Given the description of an element on the screen output the (x, y) to click on. 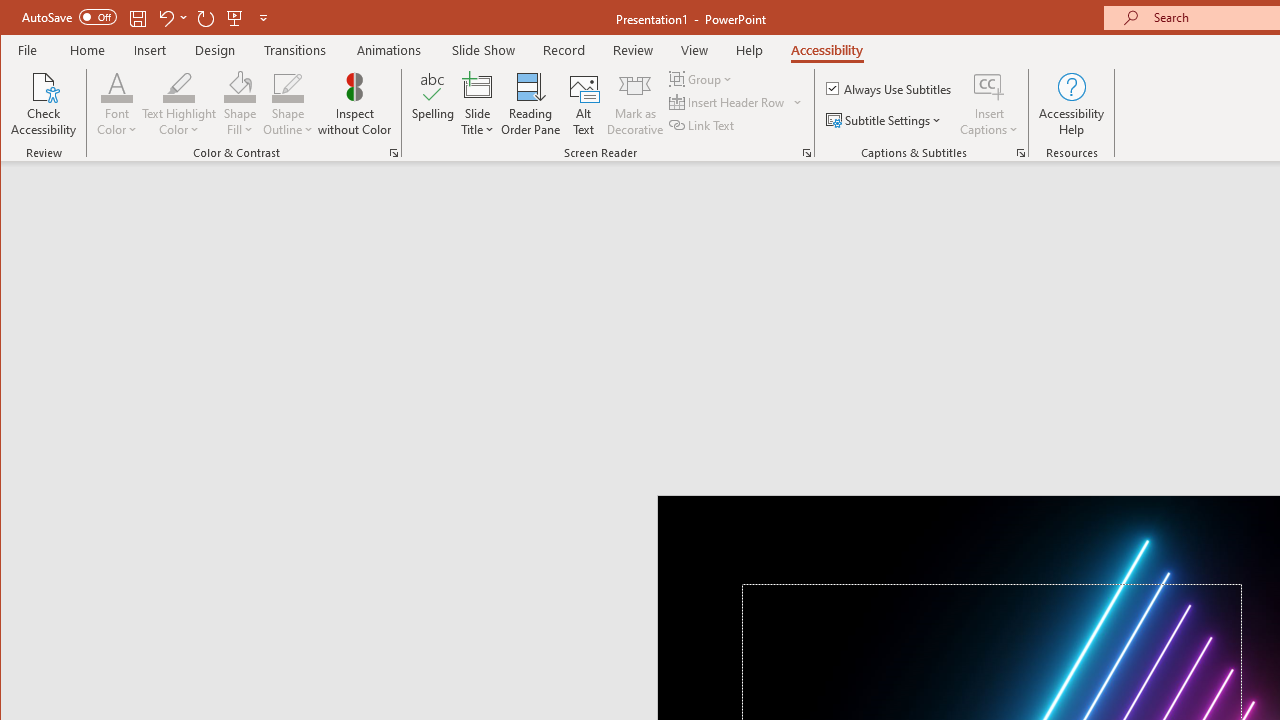
Subtitle Settings (885, 119)
Inspect without Color (355, 104)
Accessibility Help (1071, 104)
